Given the description of an element on the screen output the (x, y) to click on. 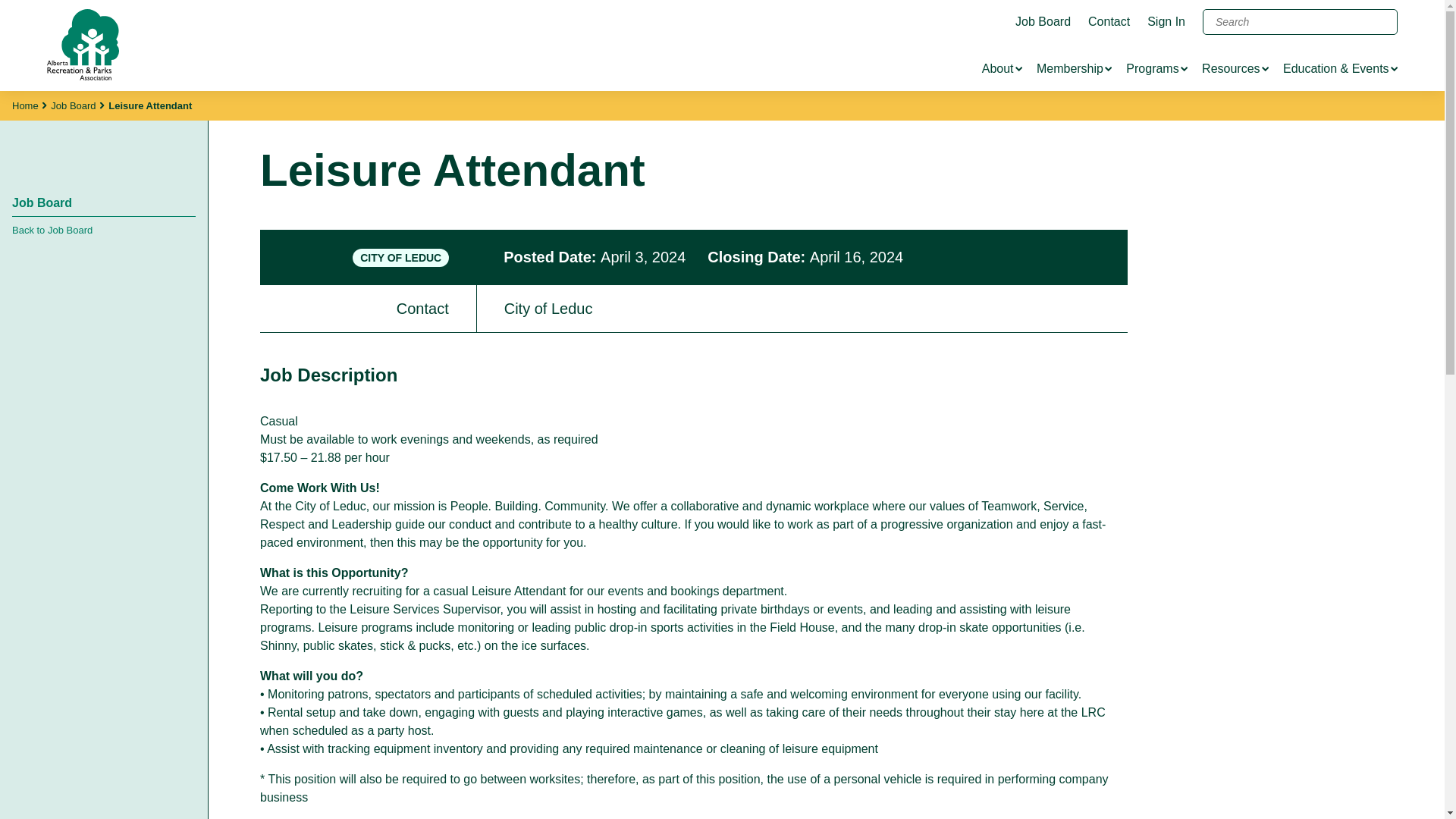
Job Board (1042, 21)
Contact (1108, 21)
Sign In (1166, 21)
